Given the description of an element on the screen output the (x, y) to click on. 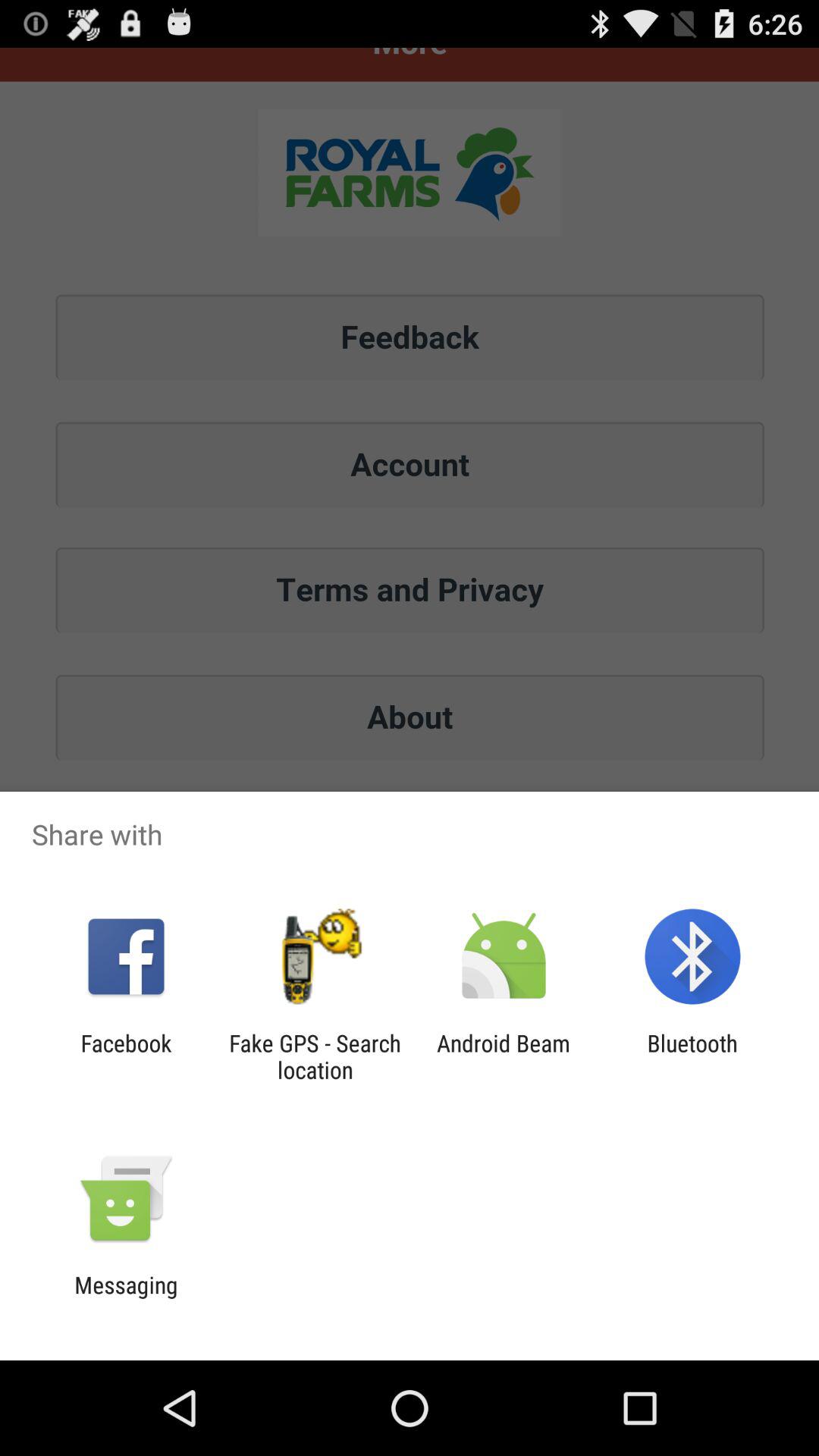
click icon to the left of the fake gps search icon (125, 1056)
